Given the description of an element on the screen output the (x, y) to click on. 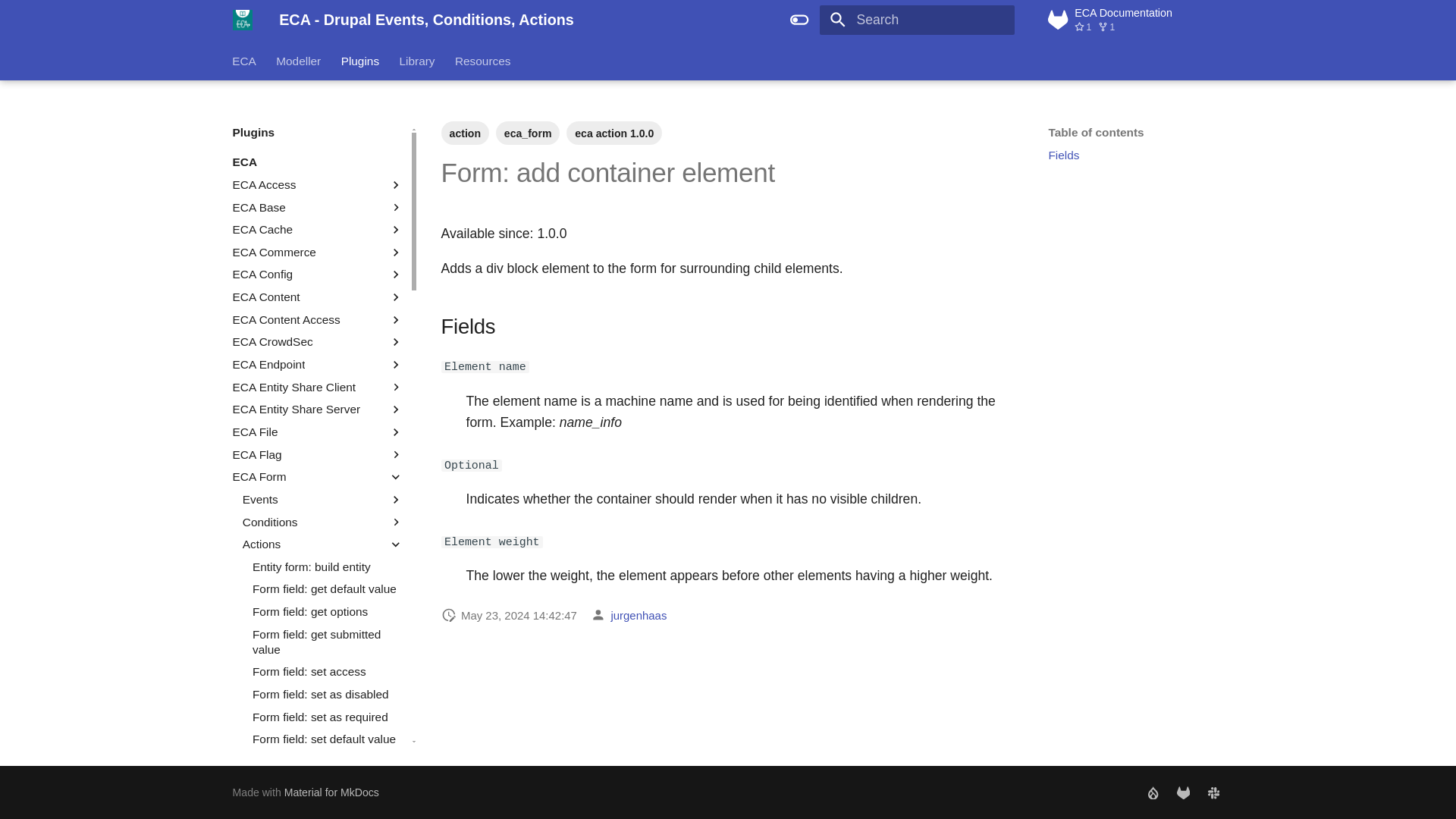
Library (416, 60)
Modeller (298, 60)
Go to repository (1135, 20)
Last update (449, 614)
ECA - Drupal Events, Conditions, Actions (242, 19)
Plugins (359, 60)
Switch to dark mode (799, 19)
Resources (482, 60)
ECA (317, 161)
